Given the description of an element on the screen output the (x, y) to click on. 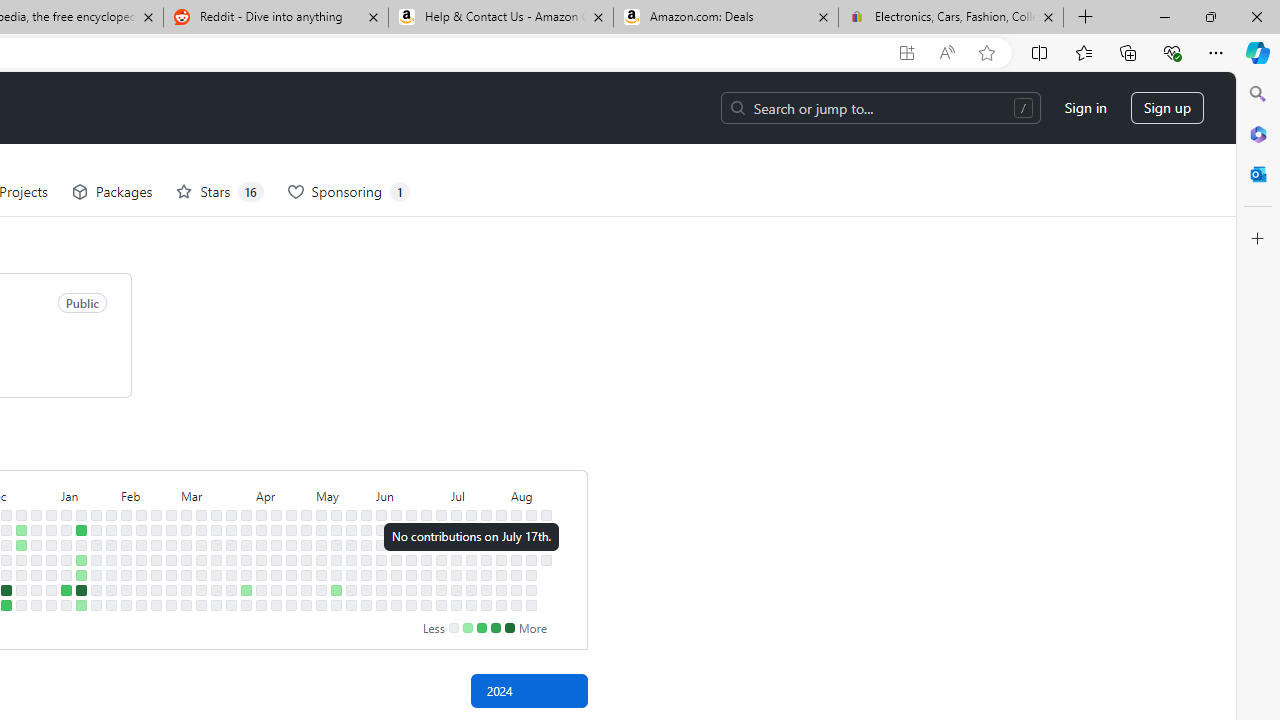
No contributions on January 14th. (81, 515)
Sponsoring 1 (348, 192)
No contributions on January 1st. (51, 529)
No contributions on December 17th. (20, 515)
No contributions on April 28th. (306, 515)
No contributions on March 26th. (231, 544)
No contributions on May 25th. (351, 605)
No contributions on January 16th. (81, 544)
No contributions on June 30th. (441, 515)
No contributions on May 12th. (336, 515)
No contributions on January 7th. (66, 515)
No contributions on February 10th. (126, 605)
No contributions on July 25th. (486, 574)
No contributions on March 2nd. (171, 605)
